Given the description of an element on the screen output the (x, y) to click on. 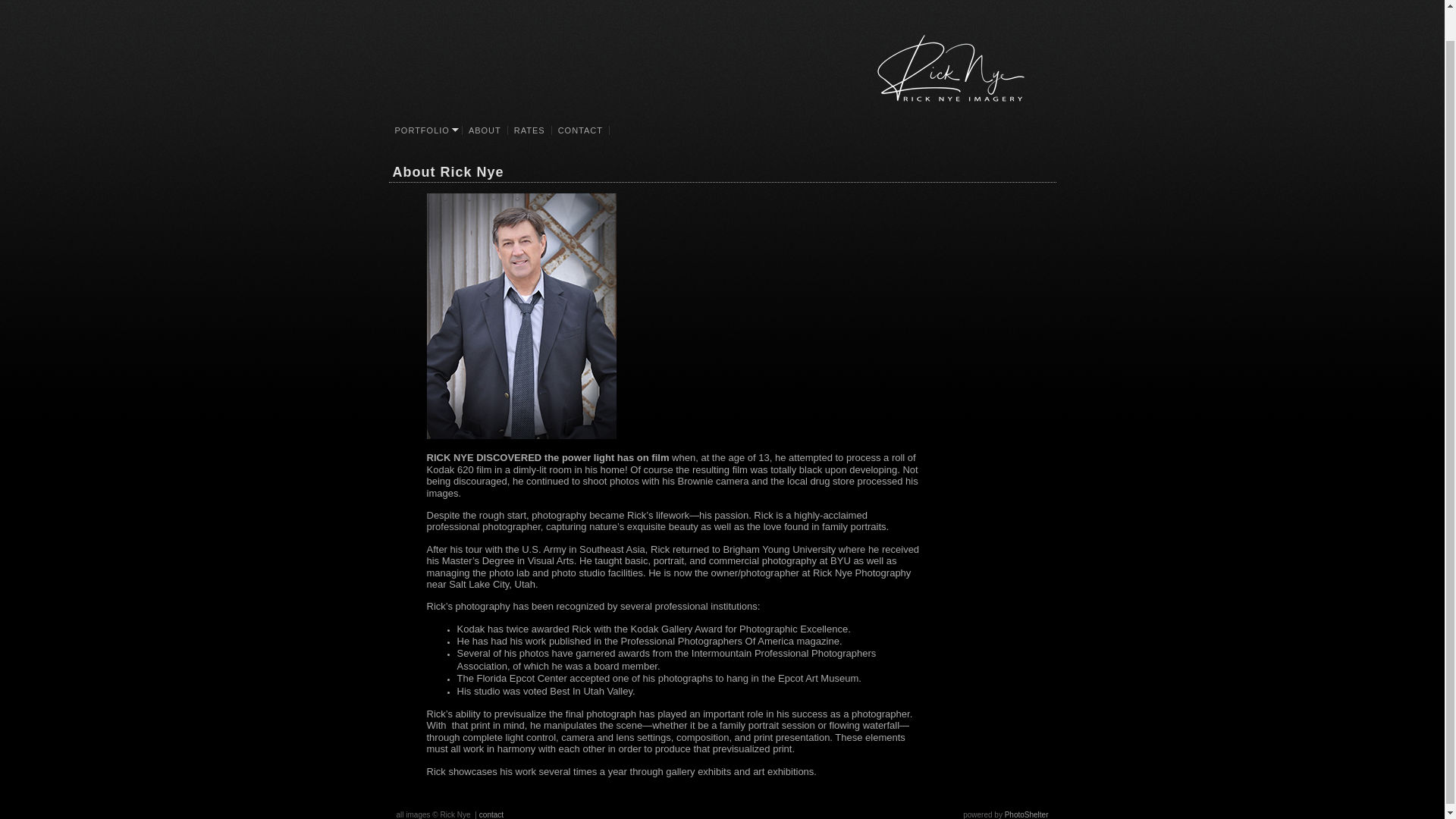
RATES (529, 130)
CONTACT (580, 130)
ABOUT (484, 130)
PORTFOLIO (425, 130)
